Given the description of an element on the screen output the (x, y) to click on. 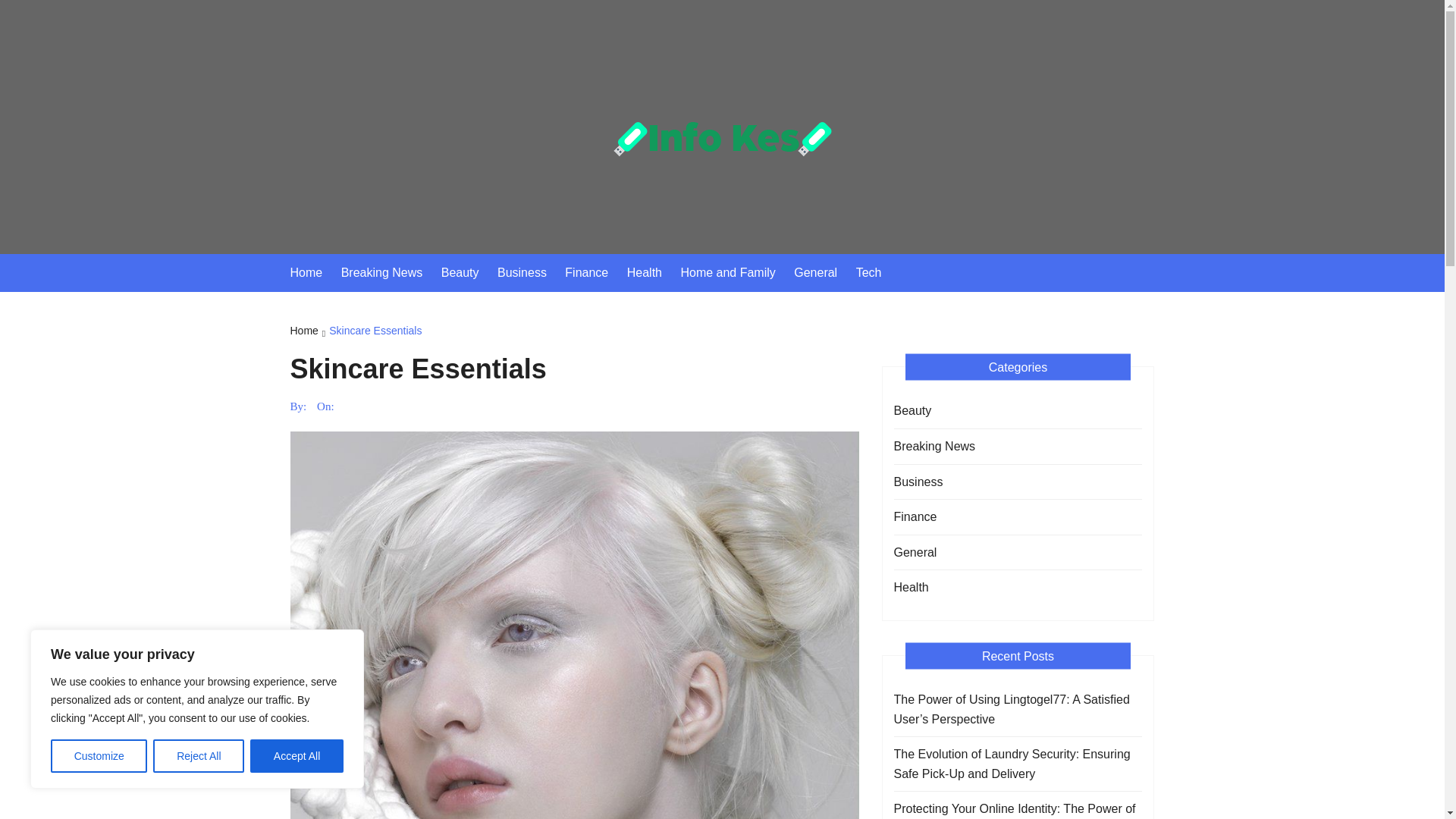
Tech (876, 272)
Accept All (296, 756)
Business (917, 482)
Business (529, 272)
Reject All (198, 756)
Home (313, 272)
Finance (593, 272)
Breaking News (934, 446)
Breaking News (389, 272)
Beauty (912, 410)
